Given the description of an element on the screen output the (x, y) to click on. 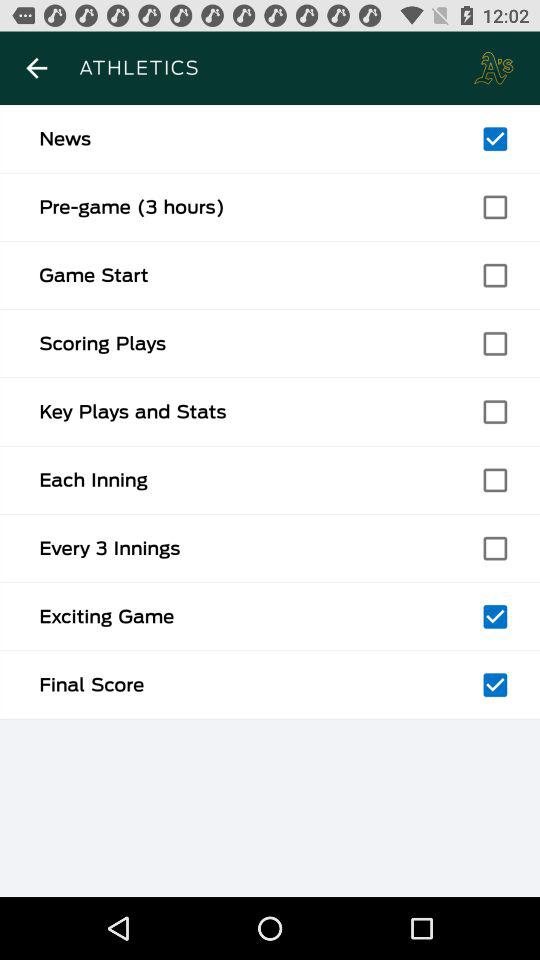
mark (495, 548)
